Given the description of an element on the screen output the (x, y) to click on. 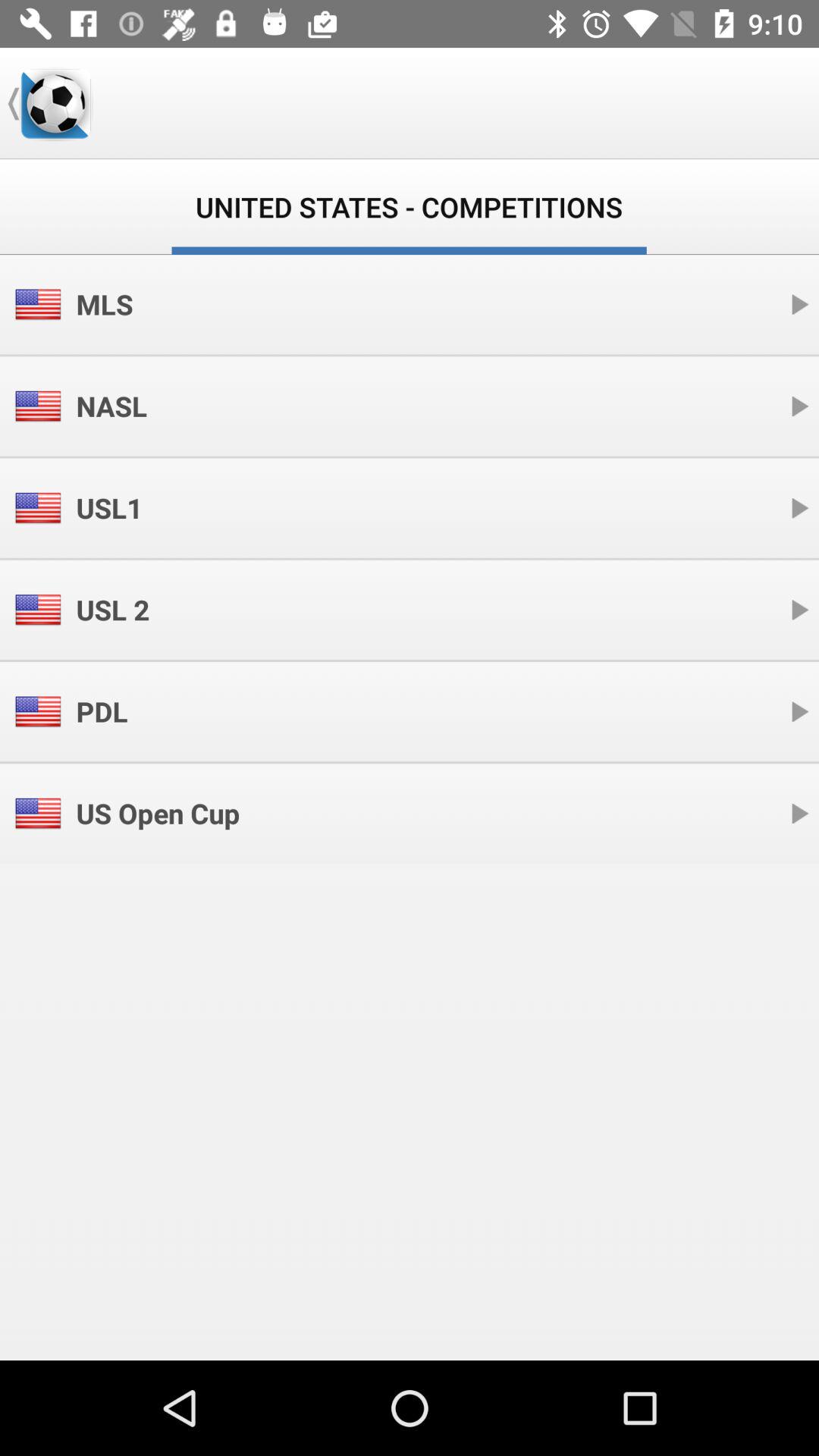
click the item above the usl1 icon (111, 406)
